Given the description of an element on the screen output the (x, y) to click on. 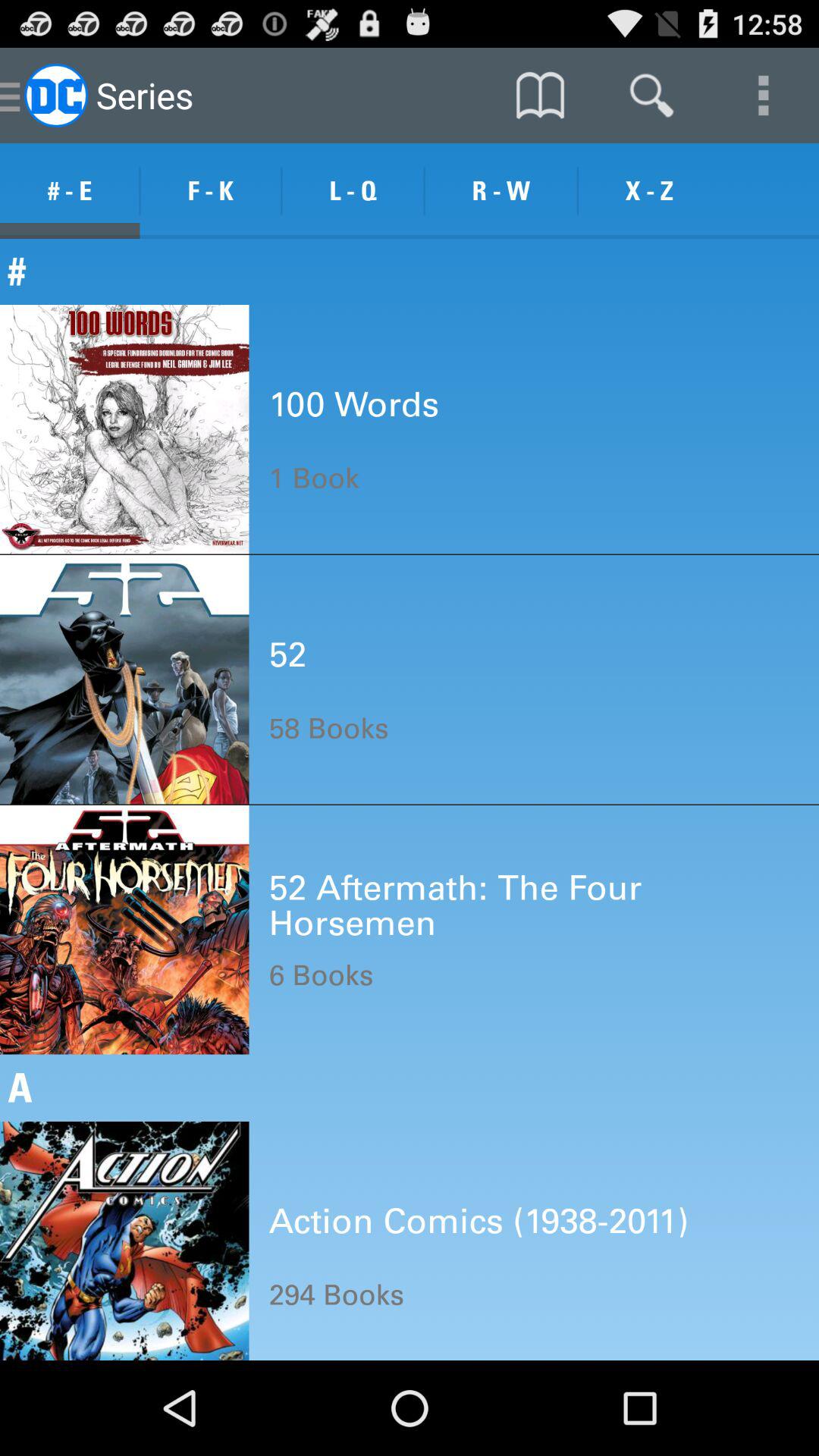
turn off app below the series icon (210, 190)
